Given the description of an element on the screen output the (x, y) to click on. 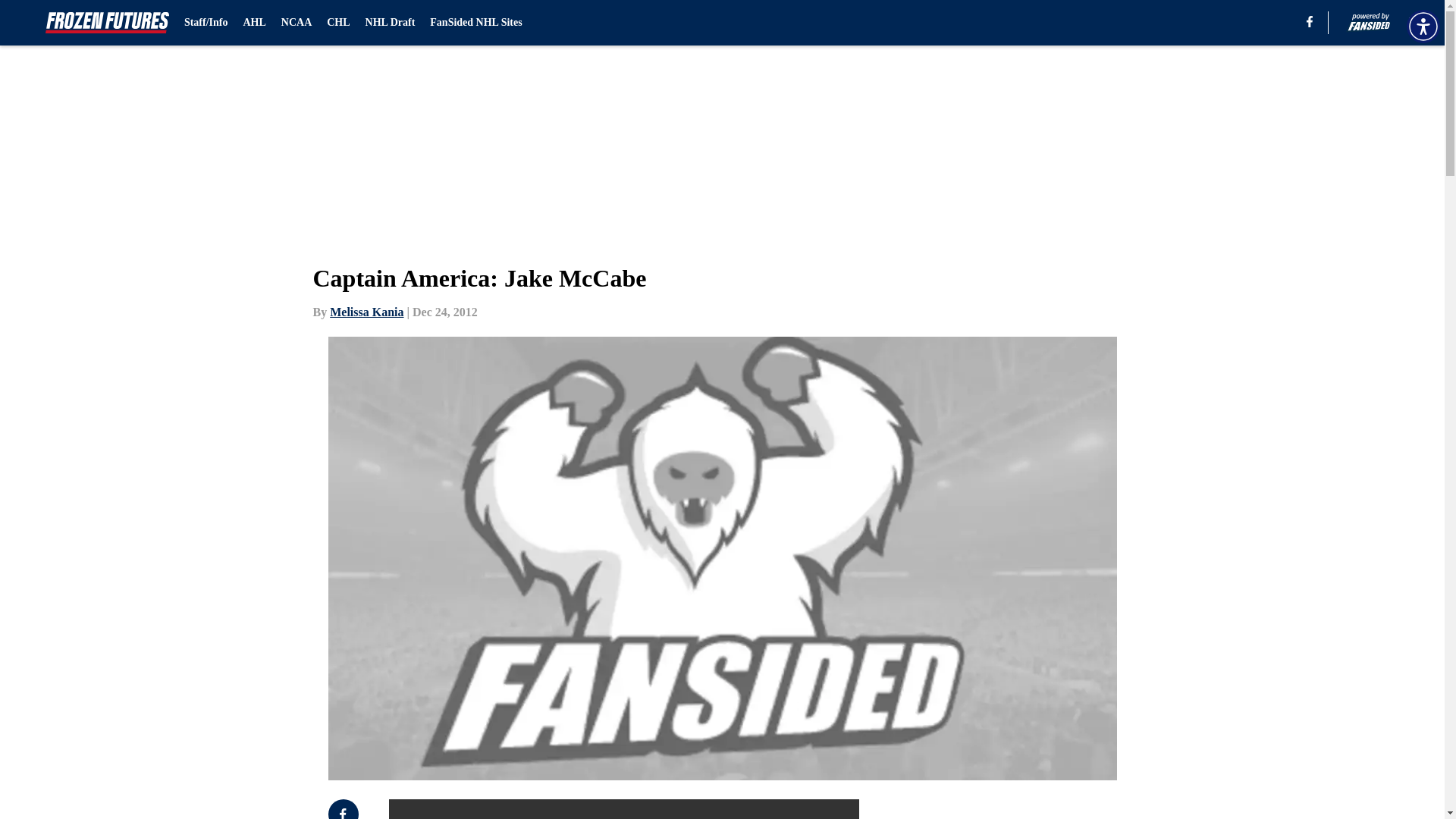
FanSided NHL Sites (475, 22)
NCAA (296, 22)
3rd party ad content (1047, 809)
CHL (337, 22)
Melissa Kania (366, 311)
Accessibility Menu (1422, 26)
AHL (253, 22)
NHL Draft (389, 22)
